Given the description of an element on the screen output the (x, y) to click on. 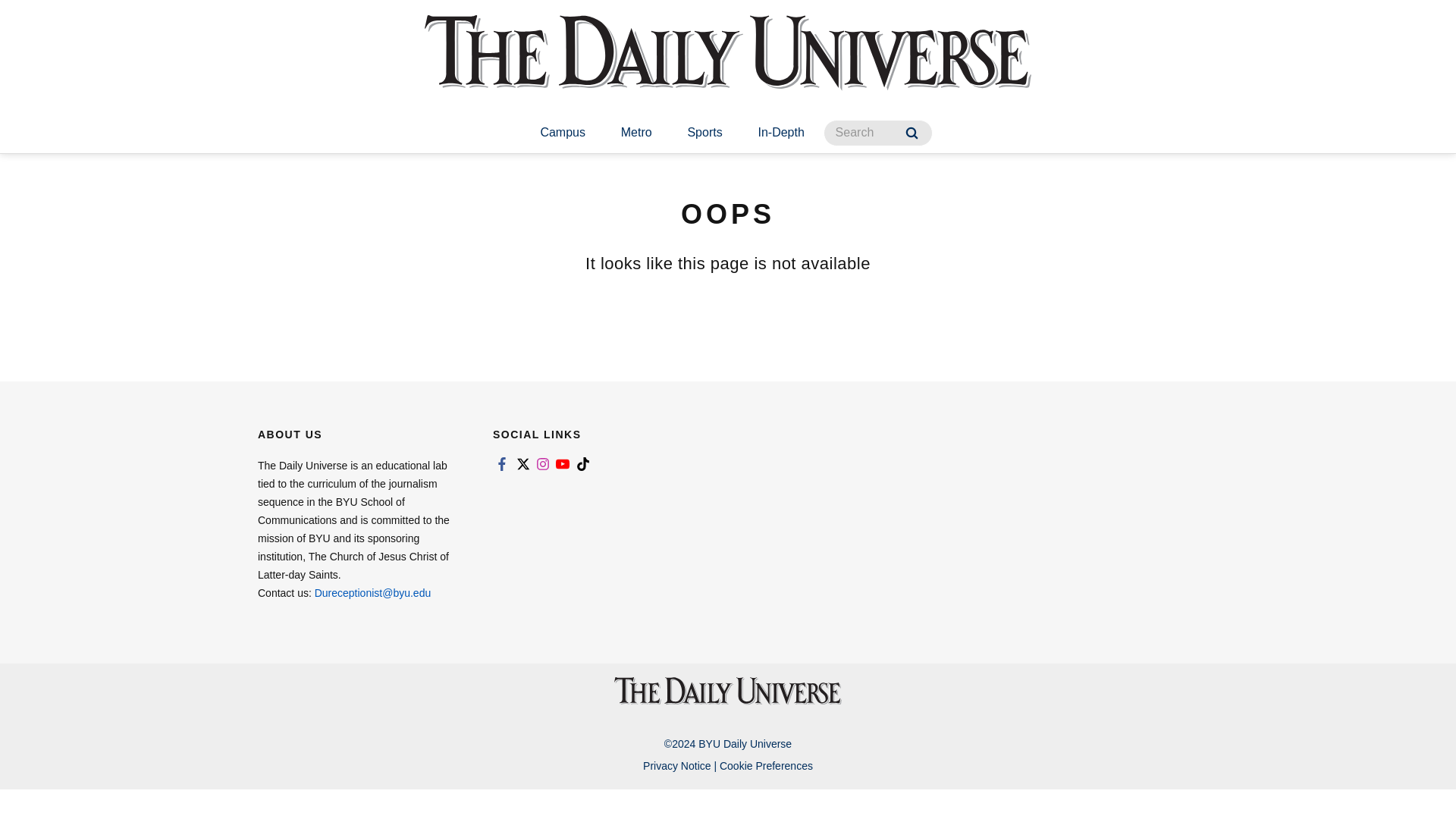
Link to instagram (542, 463)
Search (911, 132)
Link to twitter (522, 463)
Metro (636, 133)
In-Depth (781, 133)
Link to tiktok (582, 463)
Cookie Preferences (765, 766)
Link to youtube (562, 463)
Sports (703, 133)
Link to facebook (502, 463)
